Given the description of an element on the screen output the (x, y) to click on. 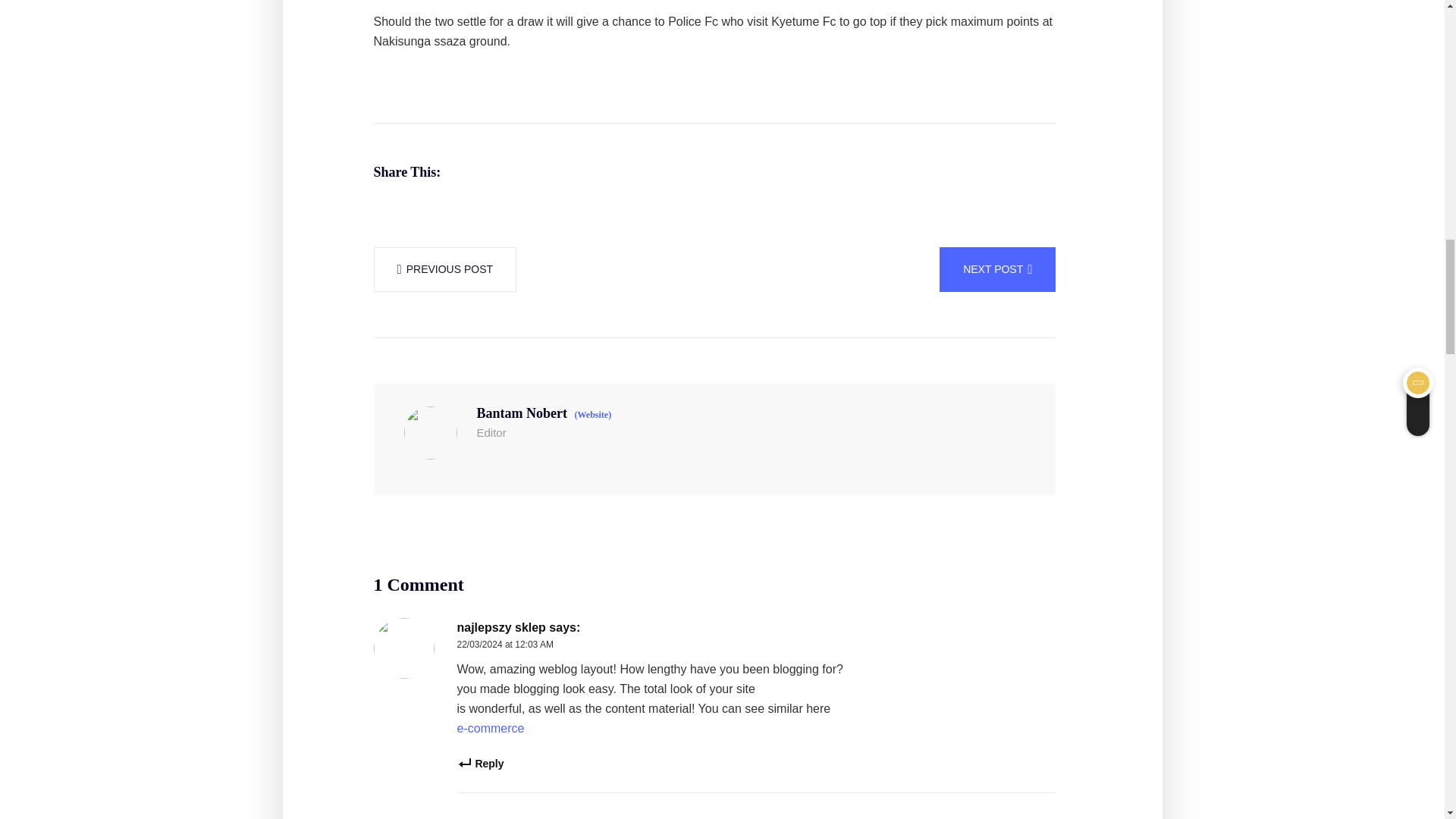
Reply (480, 764)
PREVIOUS POST (444, 269)
NEXT POST (997, 269)
najlepszy sklep (500, 628)
e-commerce (490, 728)
